Given the description of an element on the screen output the (x, y) to click on. 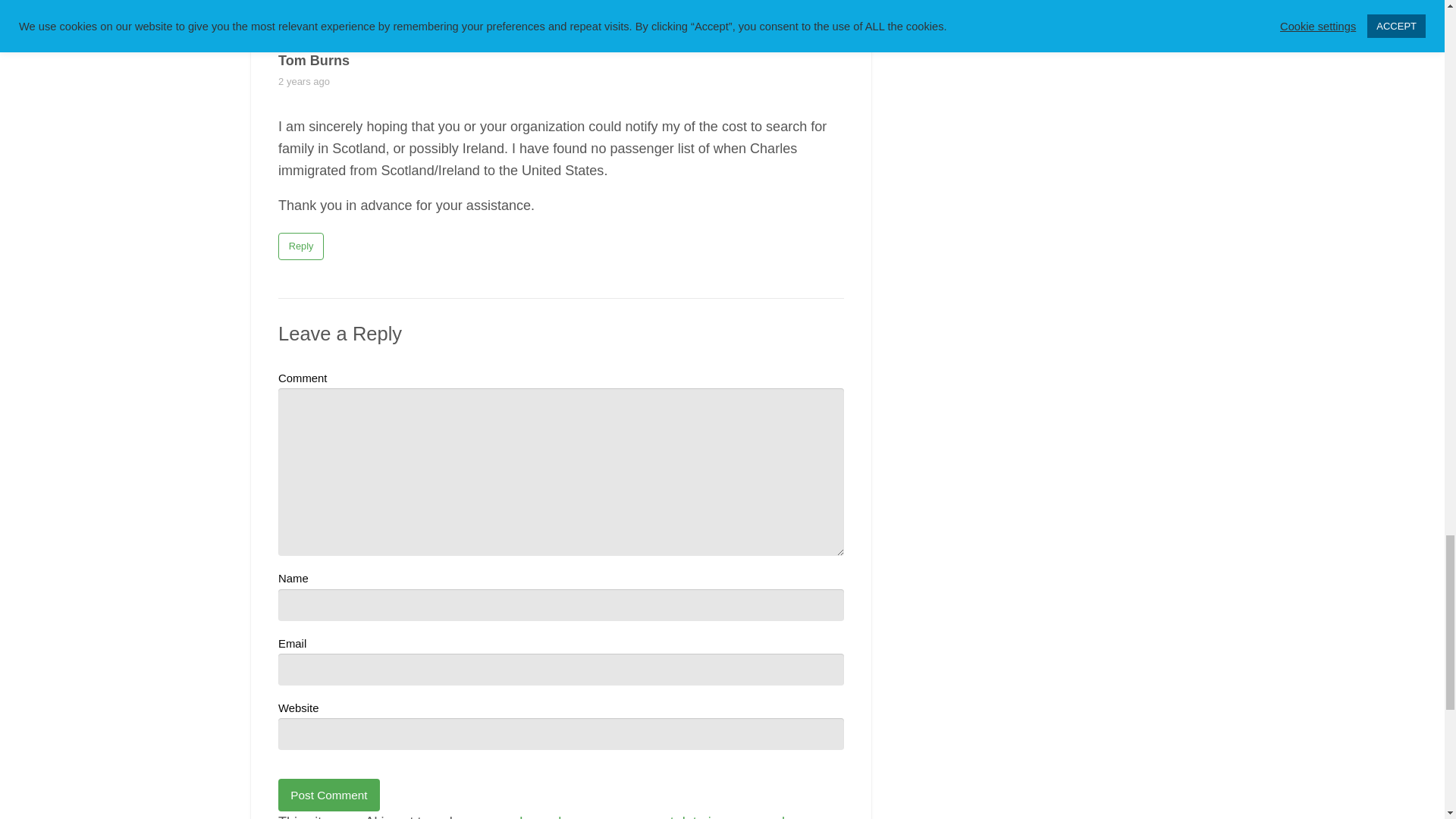
Post Comment (329, 794)
